Given the description of an element on the screen output the (x, y) to click on. 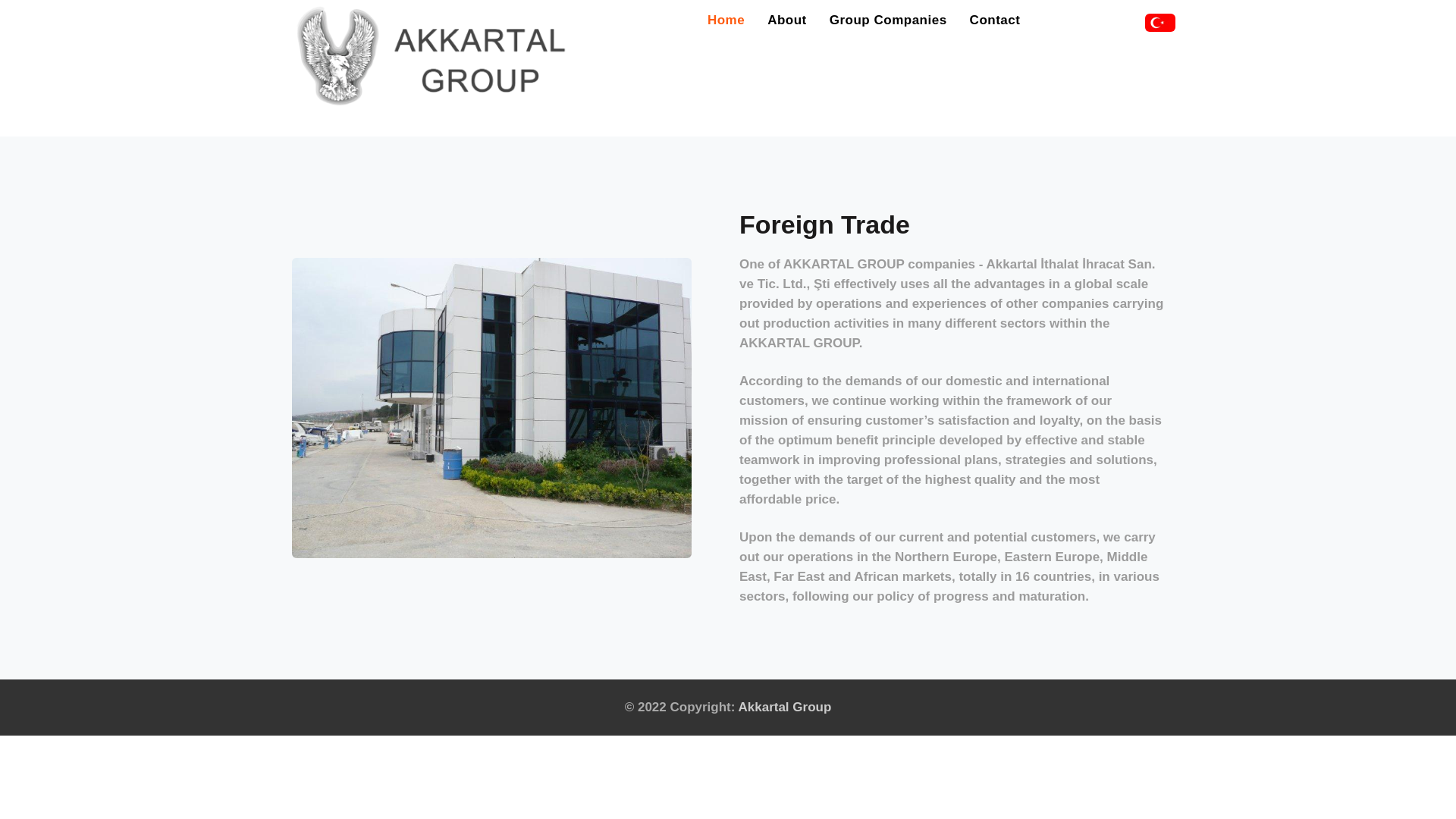
Akkartal Group (784, 707)
Group Companies (888, 18)
About (786, 18)
Contact (994, 18)
